Given the description of an element on the screen output the (x, y) to click on. 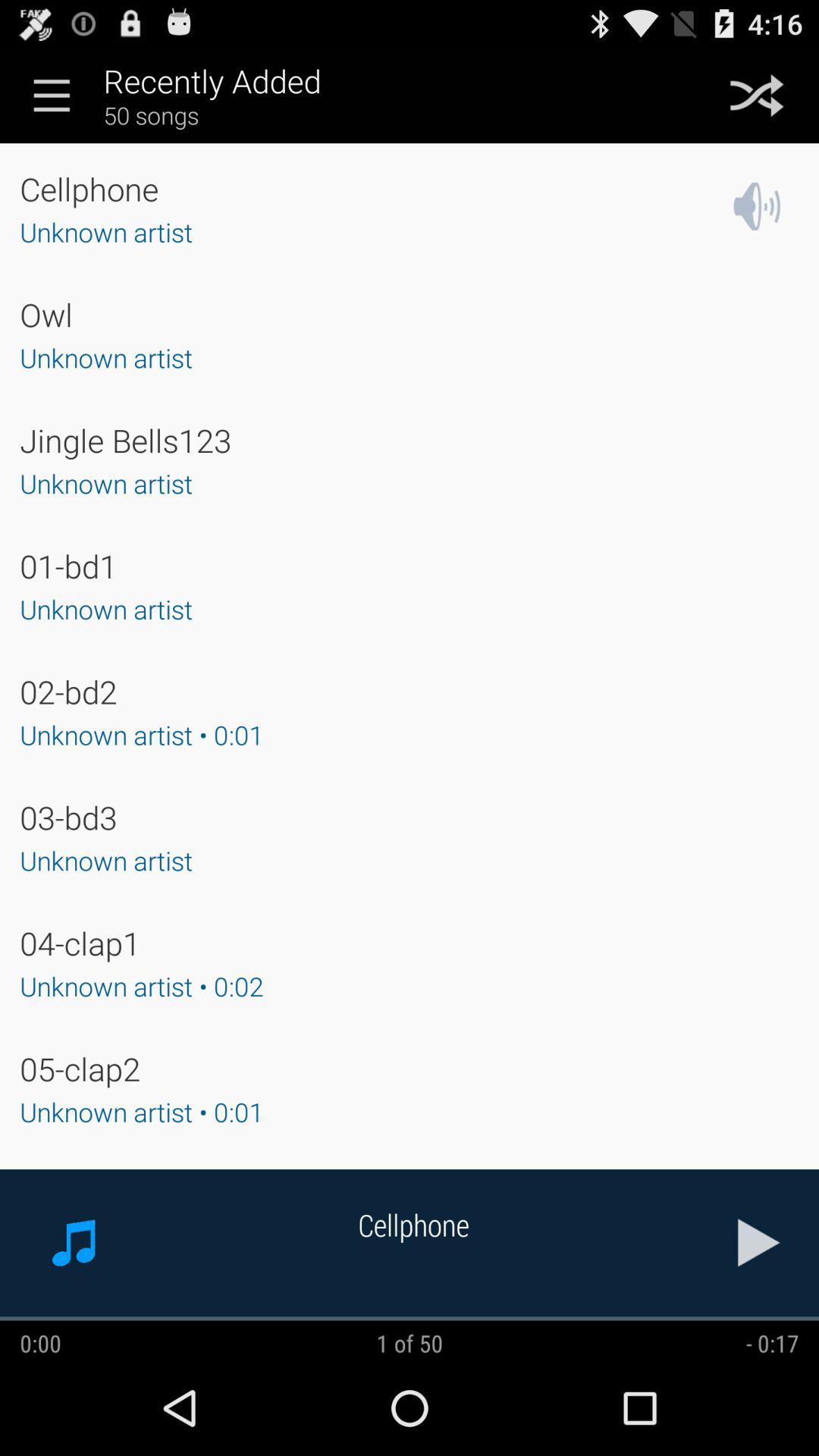
turn on the app next to the unknown artist app (756, 206)
